Given the description of an element on the screen output the (x, y) to click on. 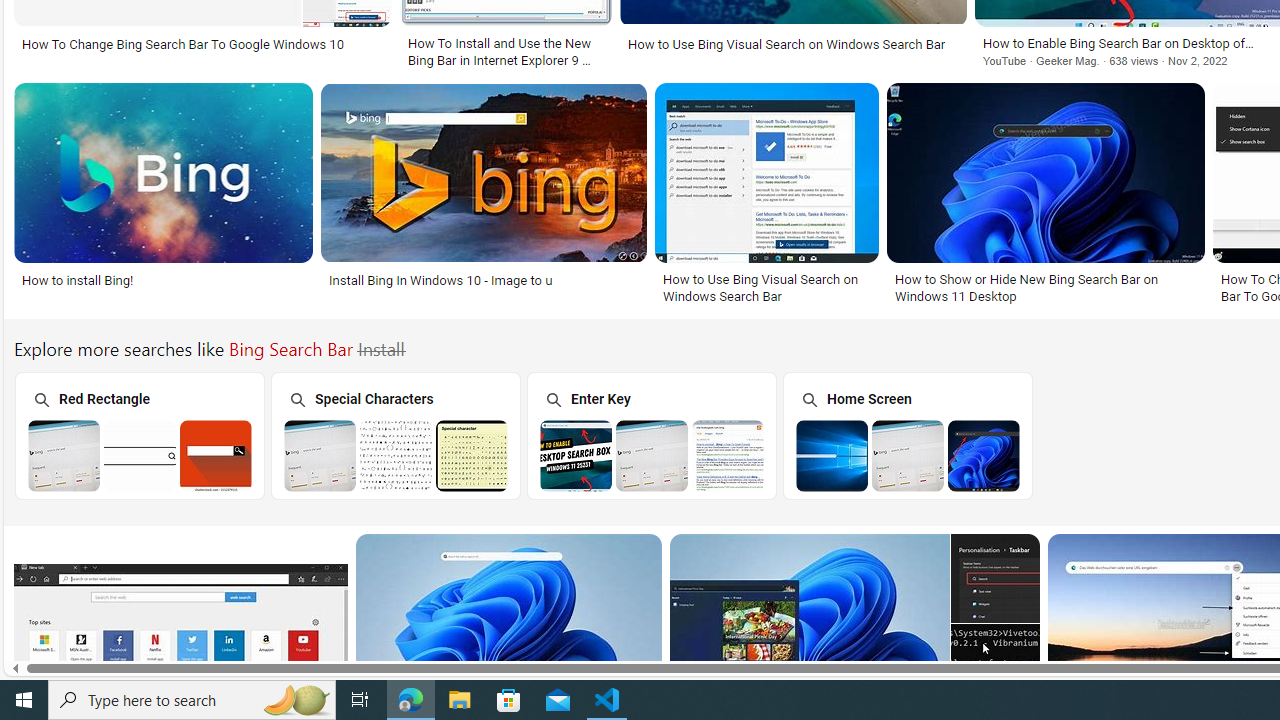
Bing Search Bar On Home Screen Home Screen (907, 435)
Bing Search Bar Enter Key (652, 455)
Special Characters (395, 435)
Bing Search Bar Enter Key Enter Key (651, 435)
Bing Search Bar On Home Screen (908, 455)
Image result for Bing Search Bar Install (508, 623)
Image result for Bing Search Bar Install (995, 668)
How To Change Bing Search Bar To Google Windows 10 (202, 44)
Red Rectangle Bing Search Bar Red Rectangle (139, 435)
How To Change Bing Search Bar To Google Windows 10 (182, 44)
Install Bing In Windows 10 - Image to u (483, 279)
